Given the description of an element on the screen output the (x, y) to click on. 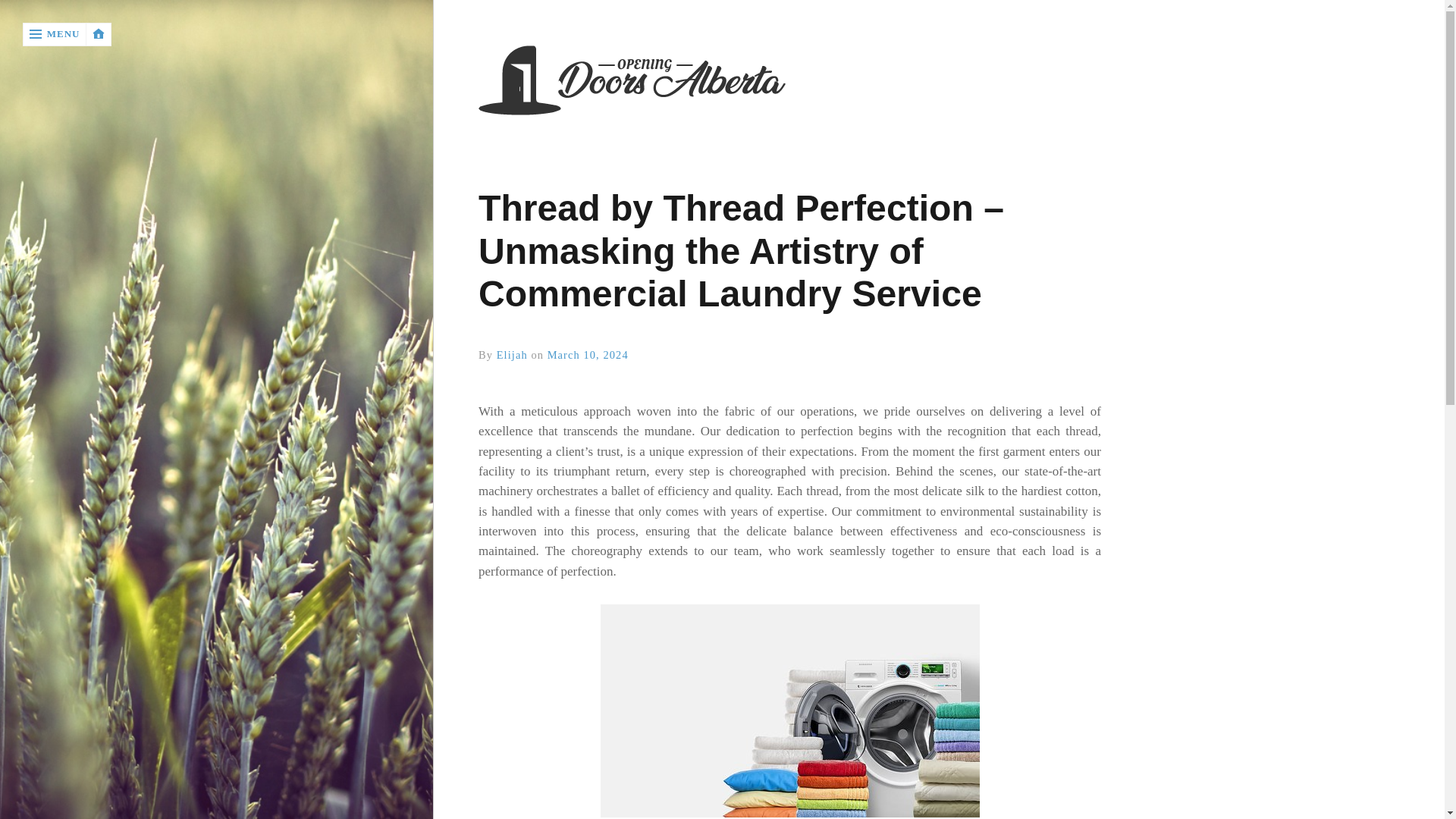
Elijah (511, 354)
View all posts by Elijah (511, 354)
4:57 am (587, 354)
March 10, 2024 (587, 354)
Home (789, 82)
MENU (55, 33)
